Given the description of an element on the screen output the (x, y) to click on. 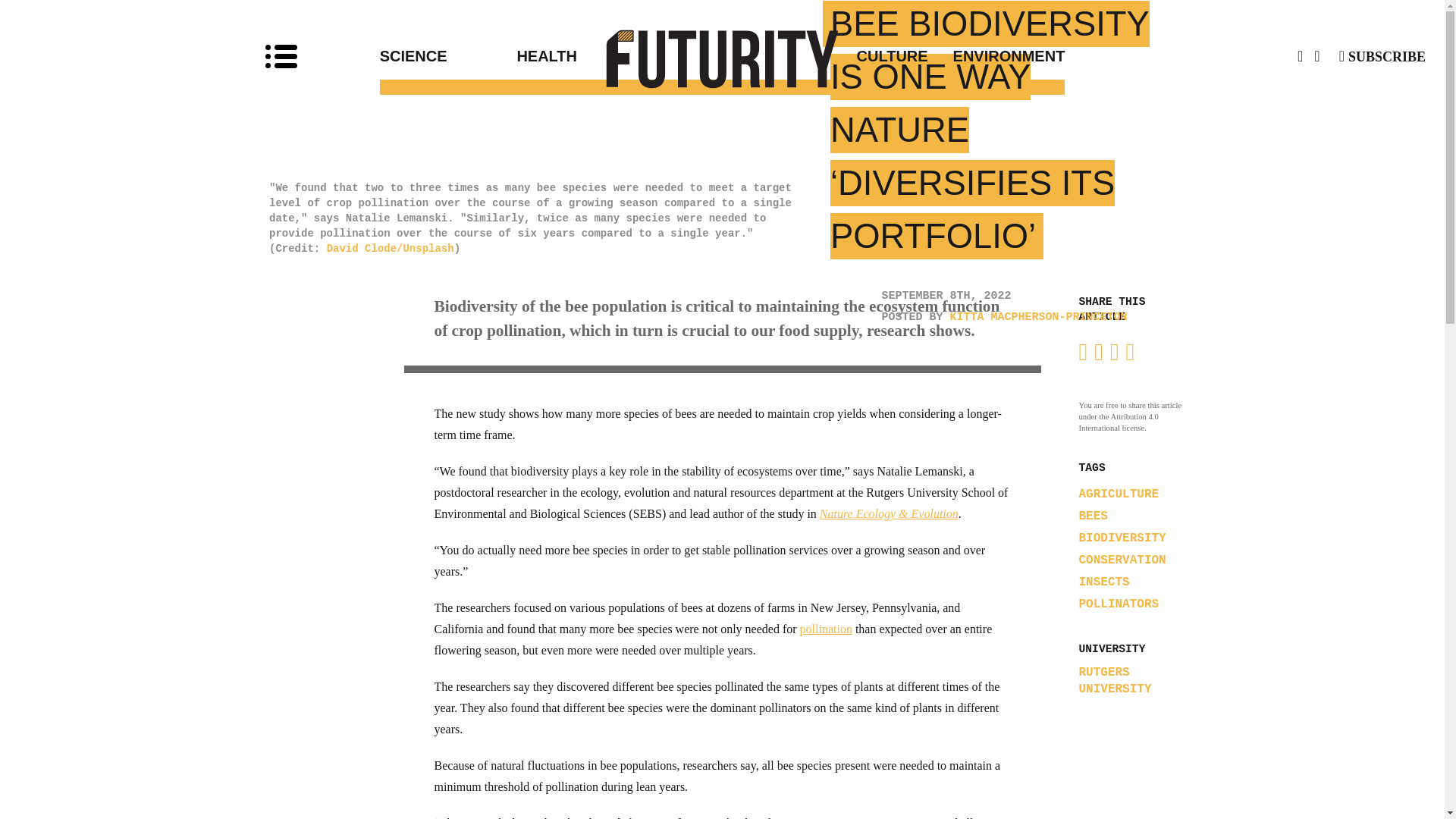
SUBSCRIBE (1382, 56)
ENVIRONMENT (996, 55)
POLLINATORS (1118, 603)
Research news from top universities (722, 58)
KITTA MACPHERSON-PRINCETON (1038, 317)
Environment (996, 55)
Culture (824, 55)
HEALTH (619, 55)
Health (619, 55)
Science (448, 55)
